Given the description of an element on the screen output the (x, y) to click on. 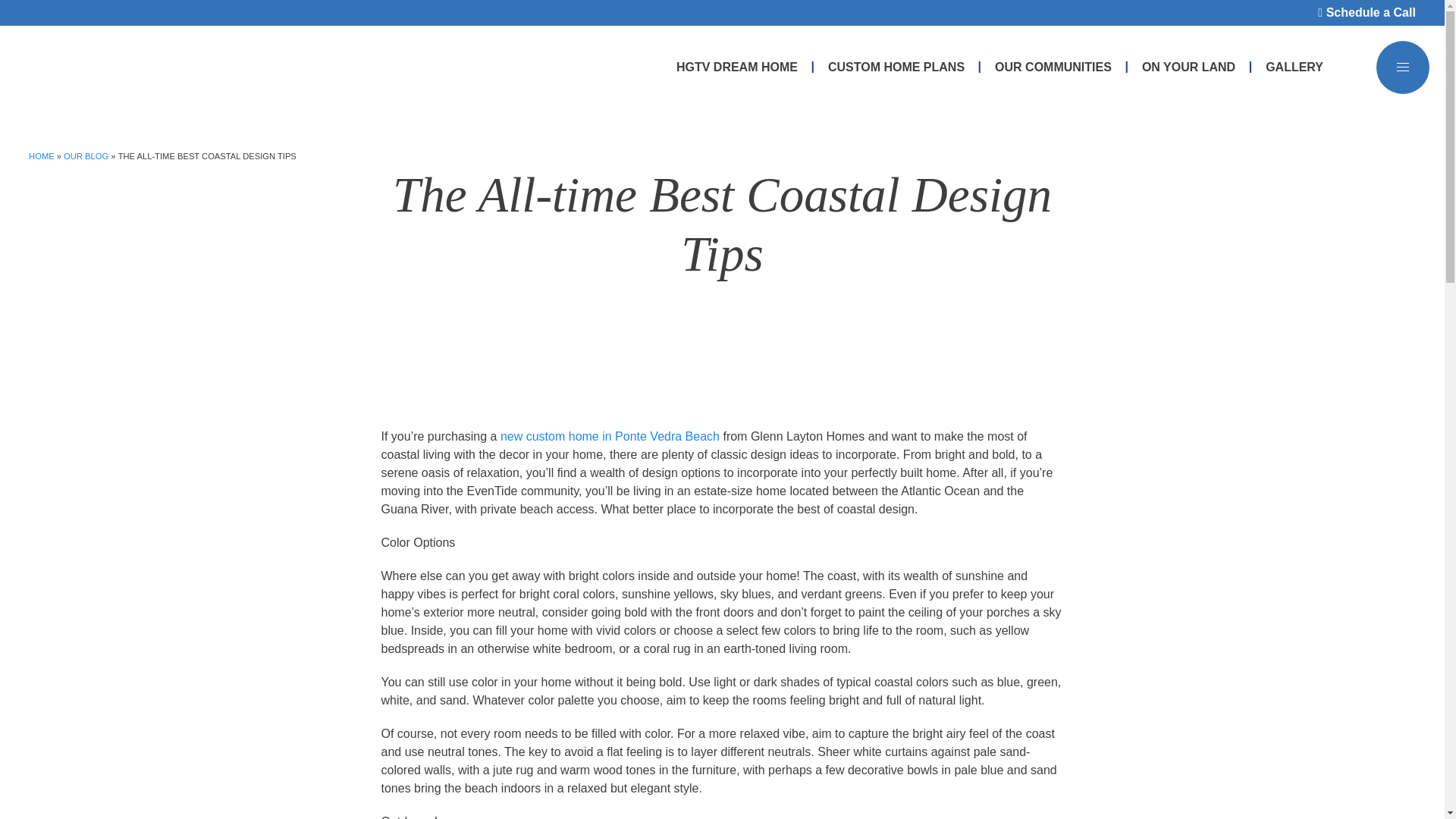
Schedule a Call (1366, 11)
new custom home in Ponte Vedra Beach (609, 436)
HOME (42, 155)
OUR BLOG (85, 155)
CUSTOM HOME PLANS (895, 67)
OUR COMMUNITIES (1053, 67)
HGTV DREAM HOME (737, 67)
GALLERY (1294, 67)
ON YOUR LAND (1188, 67)
